Given the description of an element on the screen output the (x, y) to click on. 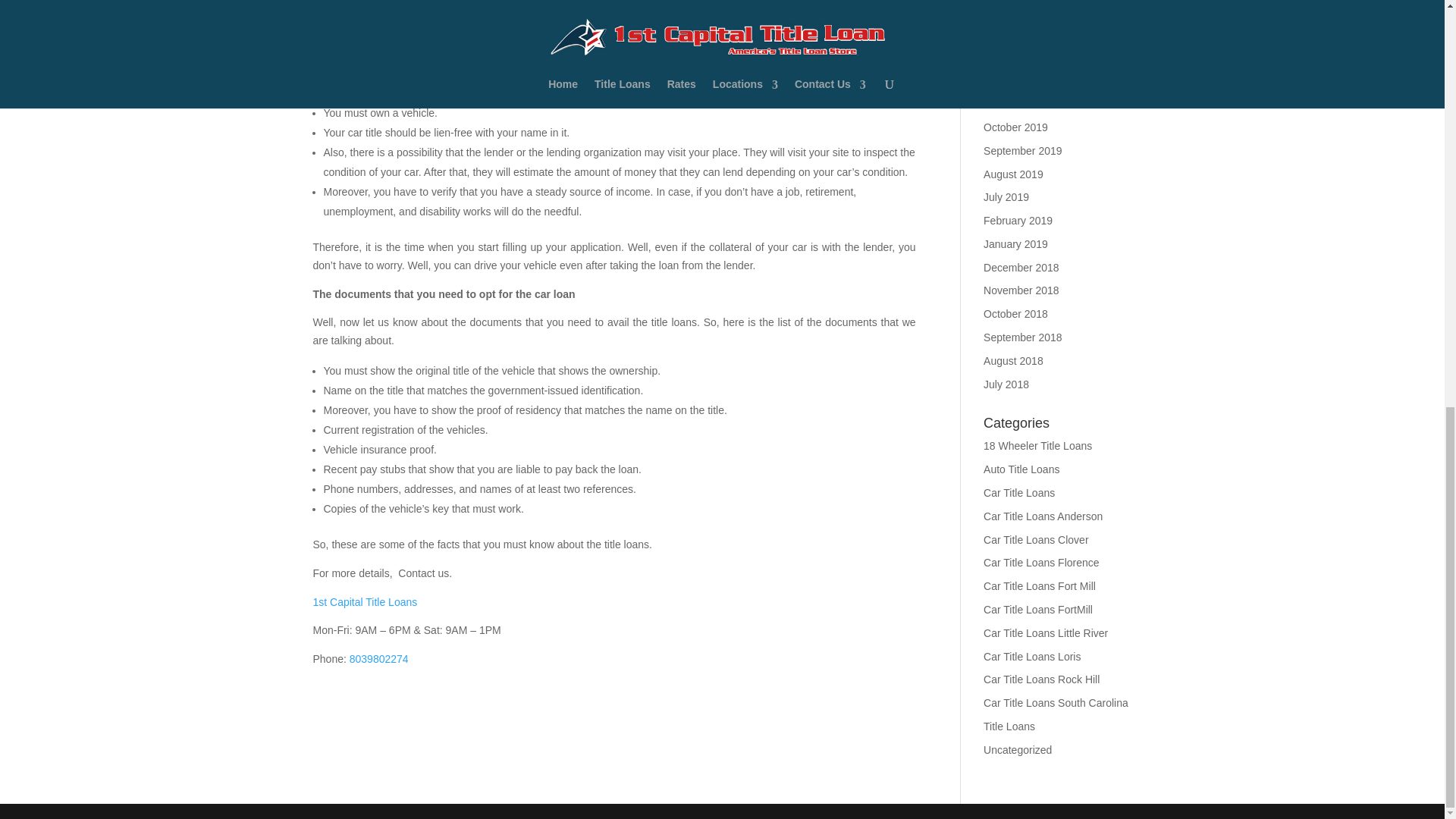
What are the requirements of a truck title loans? (434, 2)
8039802274 (379, 658)
requirements of a car title loan (677, 62)
1st Capital Title Loans (364, 602)
